Given the description of an element on the screen output the (x, y) to click on. 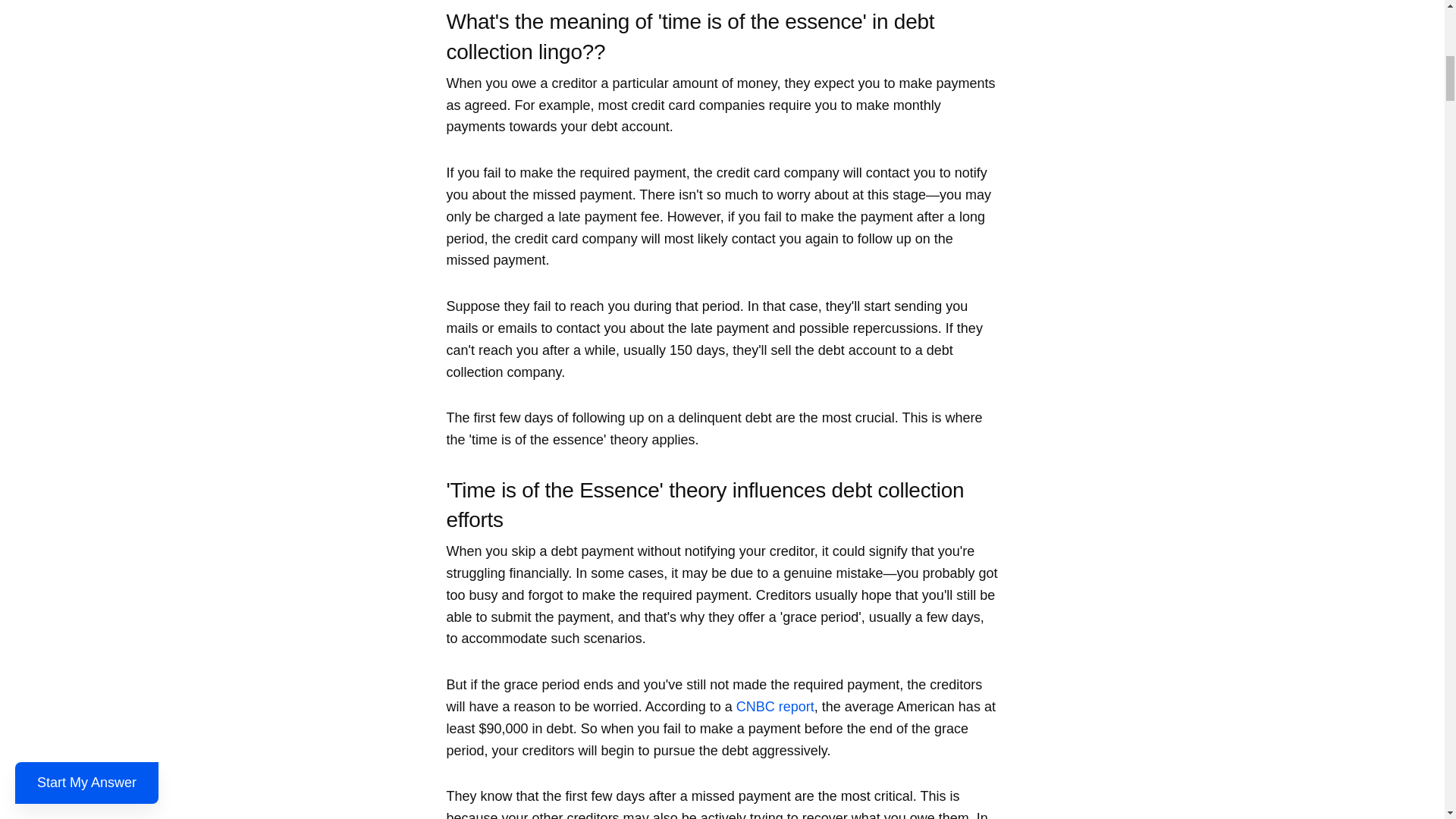
CNBC report (774, 706)
